Given the description of an element on the screen output the (x, y) to click on. 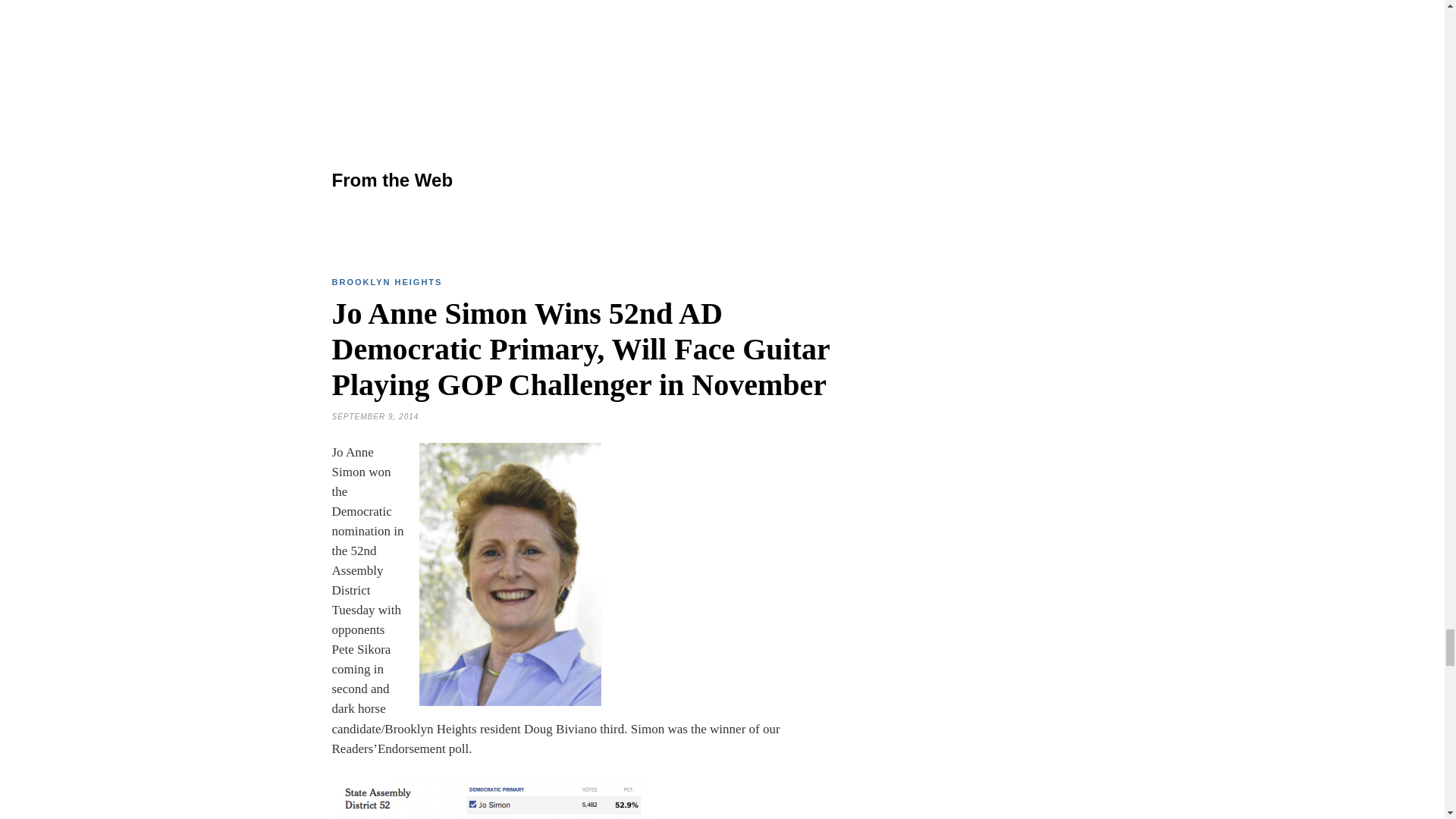
New York State Primary Election Results 2014   NYTimes.com (490, 798)
View all posts in Brooklyn Heights (386, 281)
